Given the description of an element on the screen output the (x, y) to click on. 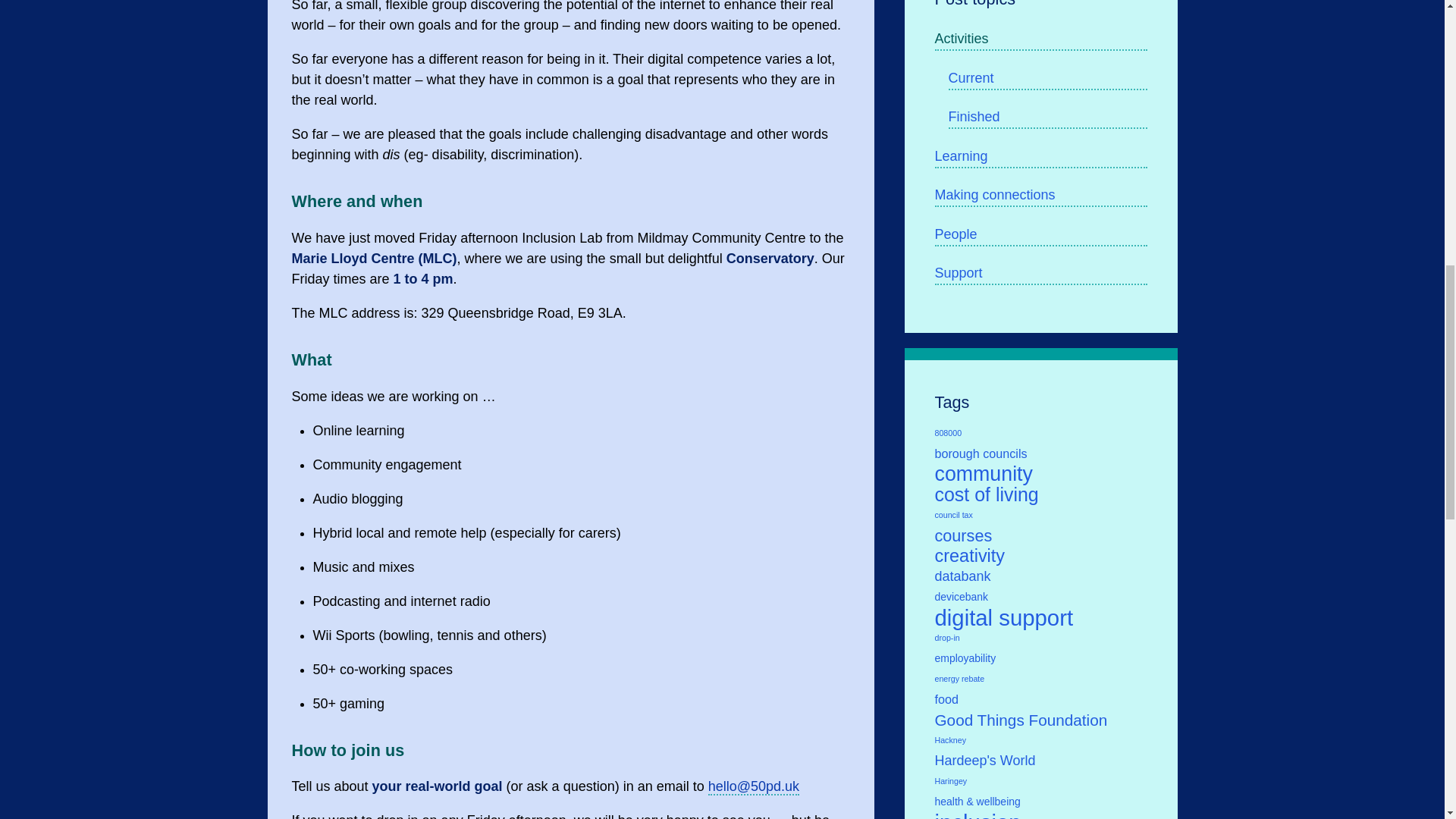
808000 (1040, 433)
Scroll back to top (1406, 720)
Activities (1040, 39)
borough councils (1040, 453)
Support (1040, 273)
Learning (1040, 157)
People (1040, 235)
Finished (1047, 117)
Current (1047, 78)
Making connections (1040, 196)
